Given the description of an element on the screen output the (x, y) to click on. 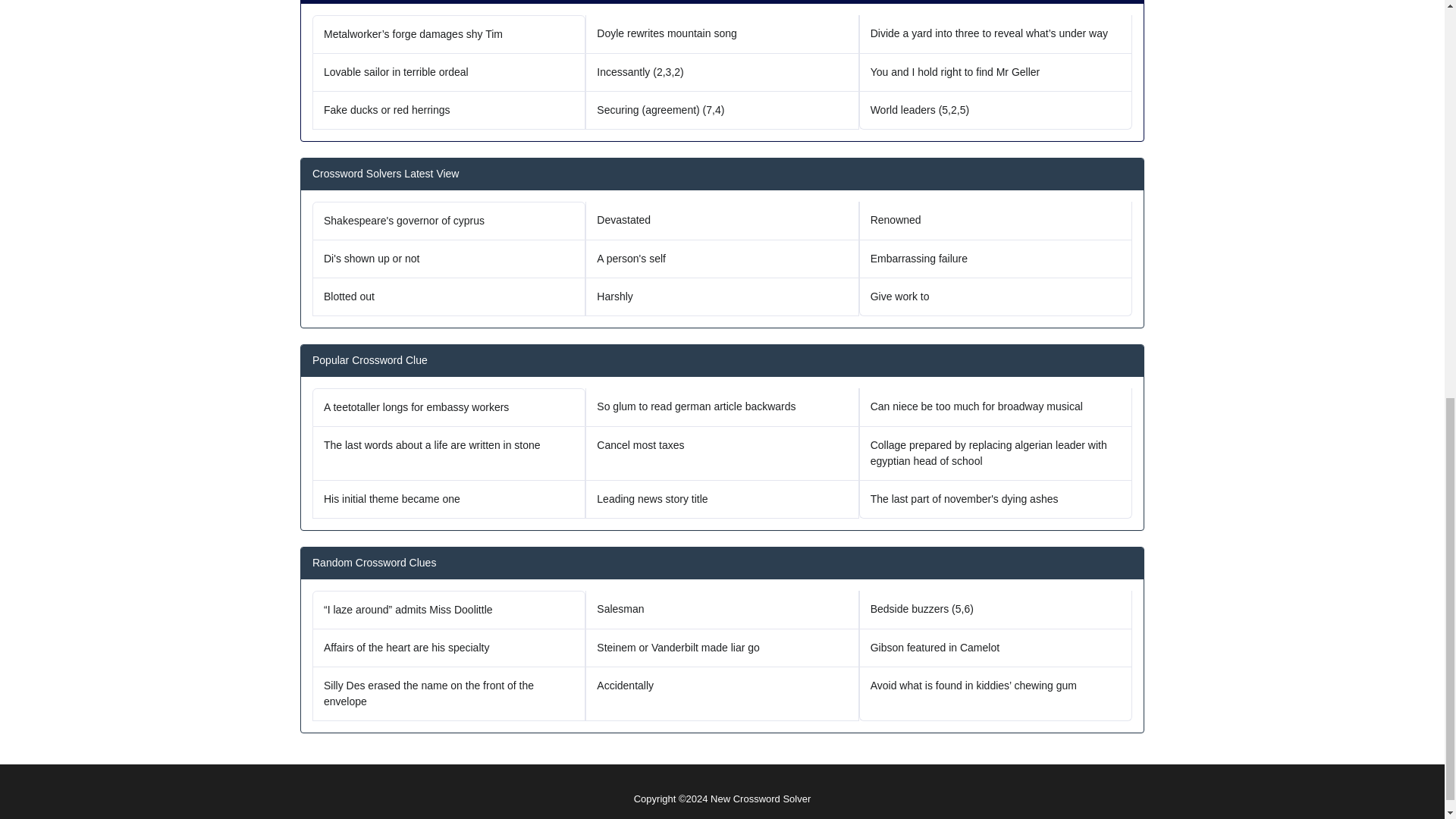
You and I hold right to find Mr Geller (995, 72)
Lovable sailor in terrible ordeal (449, 72)
Embarrassing failure (995, 259)
Devastated (722, 220)
A person's self (722, 259)
Give work to (995, 297)
Cancel most taxes (722, 453)
Di's shown up or not (449, 259)
So glum to read german article backwards (722, 407)
Harshly (722, 297)
The last words about a life are written in stone (449, 453)
A teetotaller longs for embassy workers (449, 407)
Shakespeare's governor of cyprus (449, 220)
Doyle rewrites mountain song (722, 34)
